Given the description of an element on the screen output the (x, y) to click on. 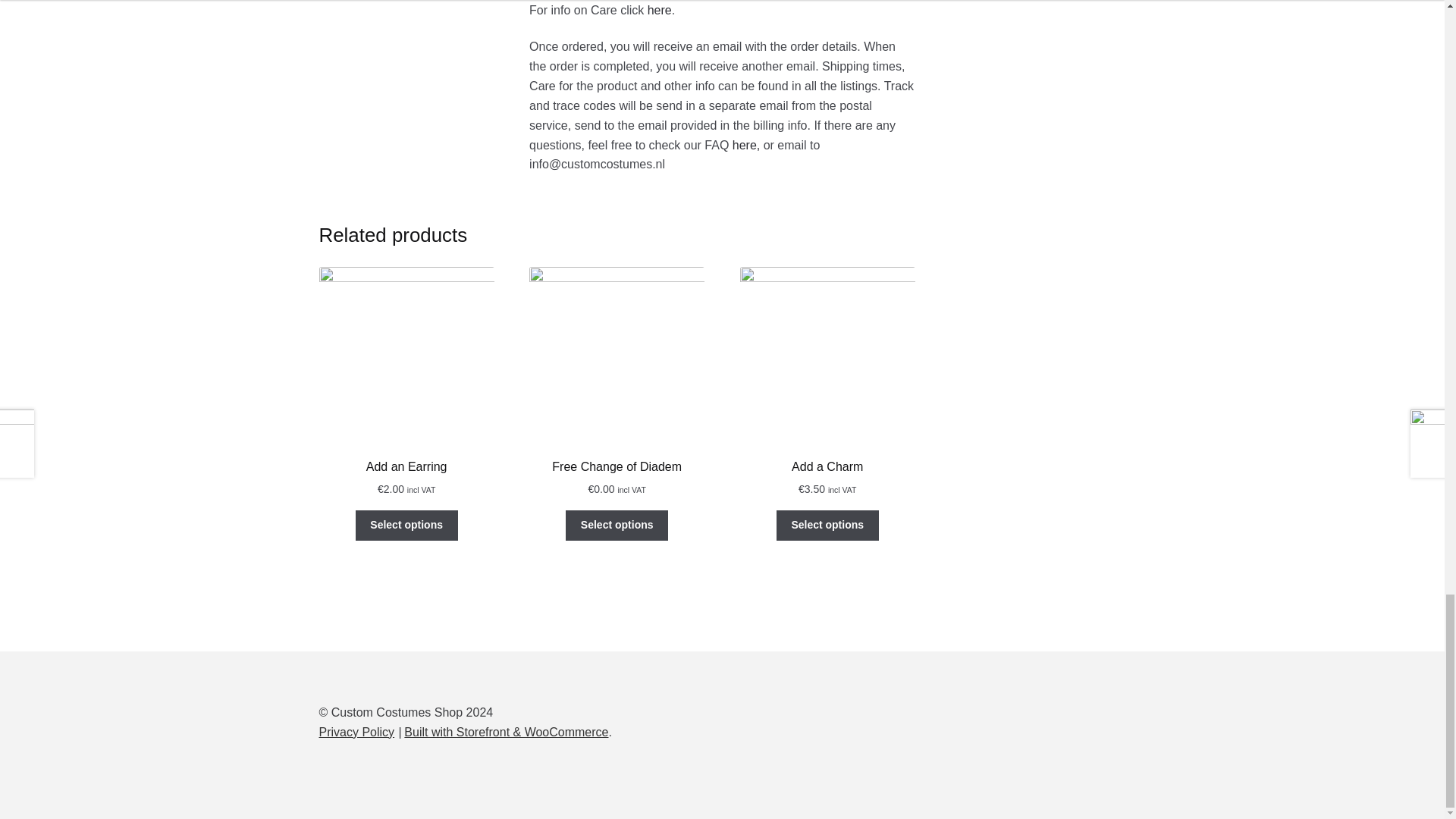
WooCommerce - The Best eCommerce Platform for WordPress (506, 731)
